Given the description of an element on the screen output the (x, y) to click on. 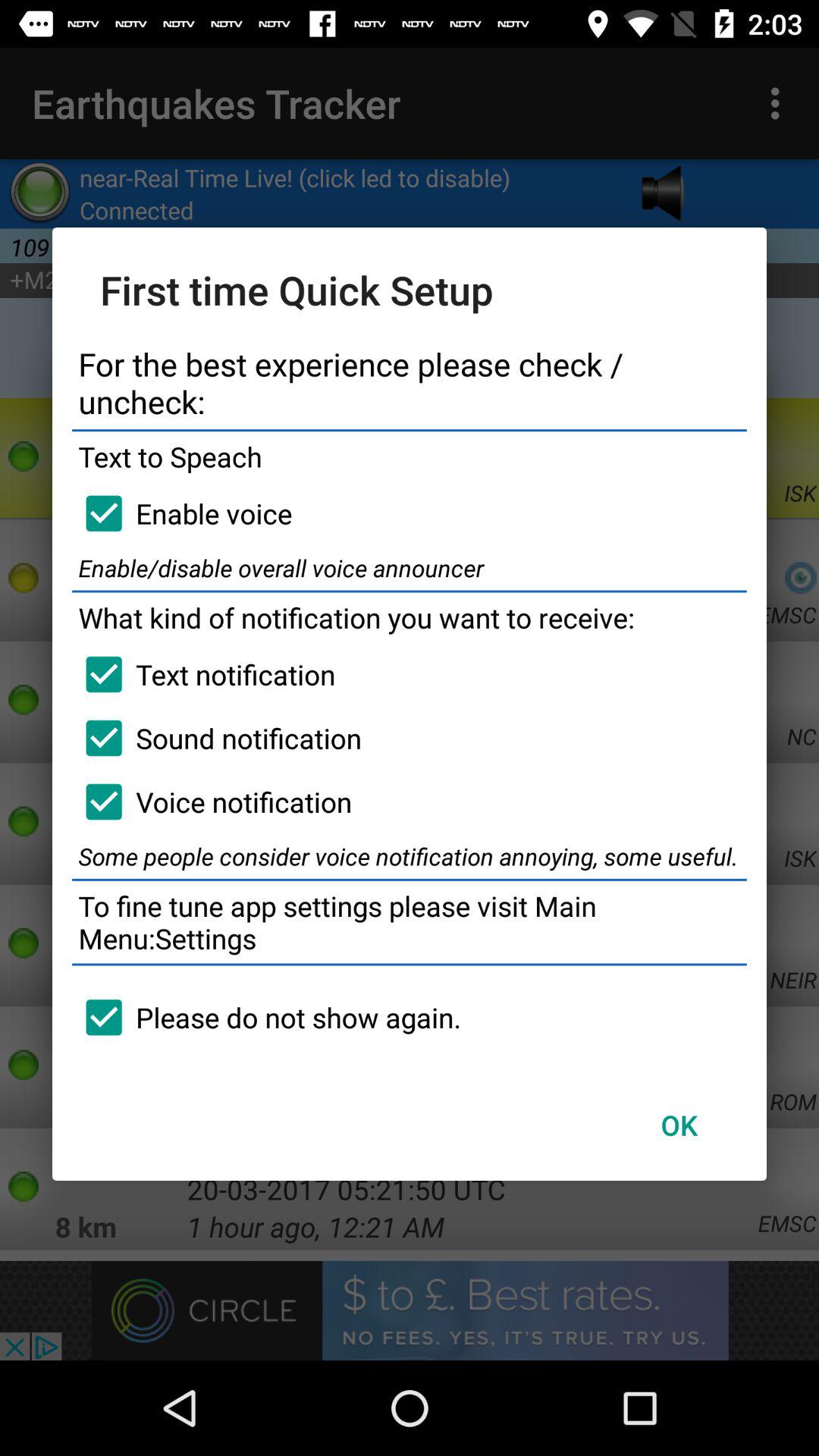
scroll to ok (678, 1124)
